Given the description of an element on the screen output the (x, y) to click on. 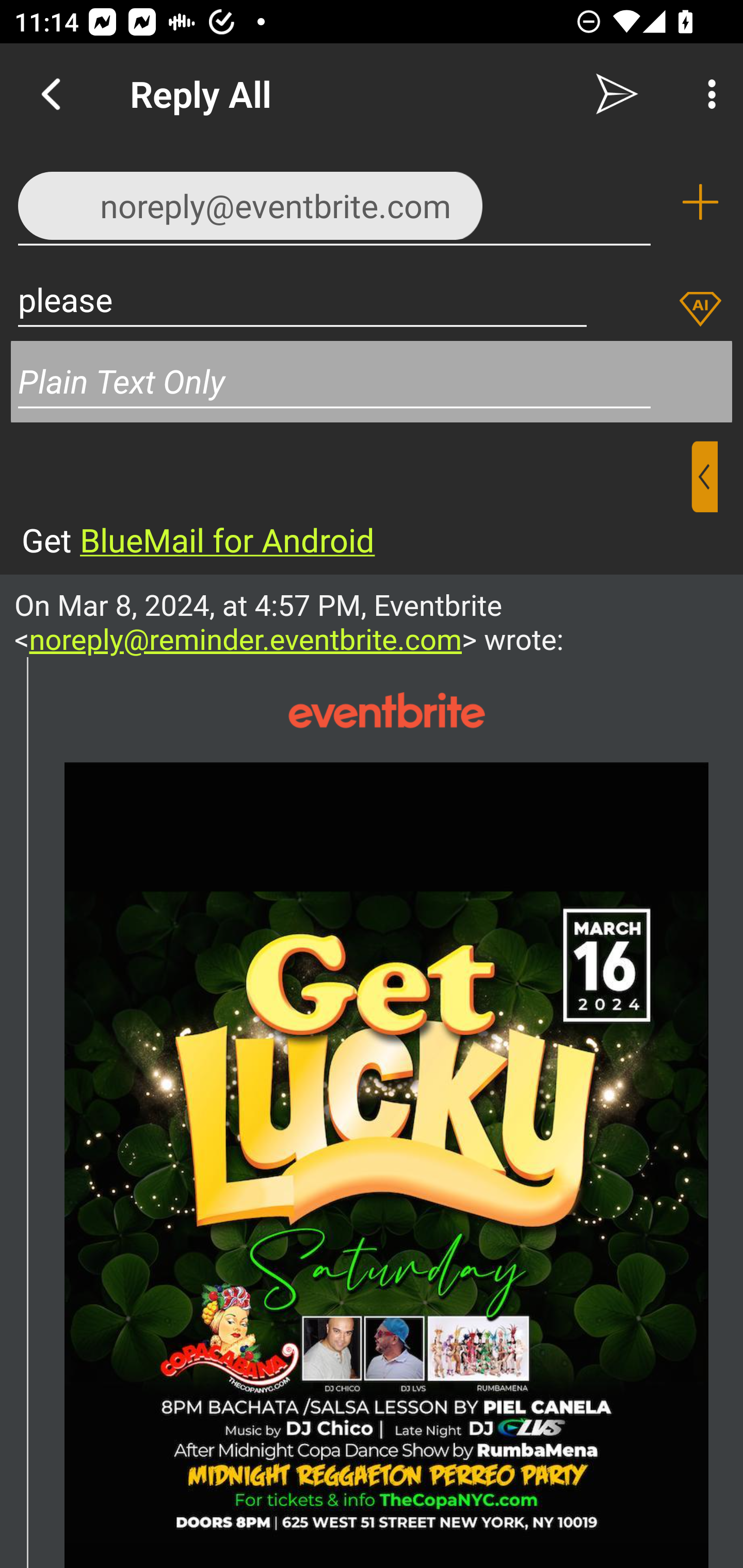
Navigate up (50, 93)
Send (616, 93)
More Options (706, 93)
<noreply@eventbrite.com>,  (334, 201)
Add recipient (To) (699, 201)
please (302, 299)
Plain Text Only (371, 380)


⁣Get BlueMail for Android ​ (355, 501)
noreply@reminder.eventbrite.com (245, 638)
Eventbrite (385, 710)
